Given the description of an element on the screen output the (x, y) to click on. 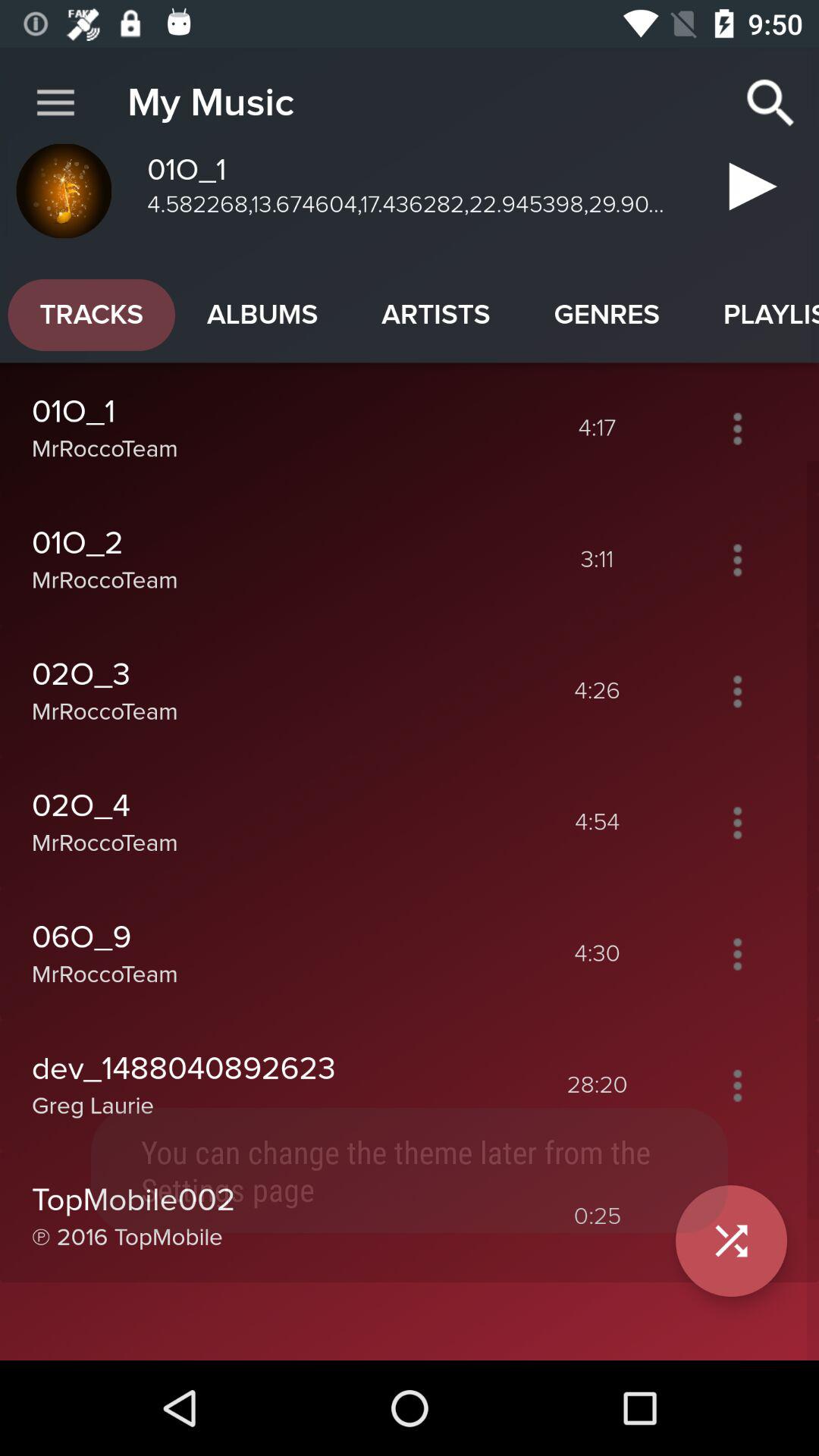
go to song menu (737, 1085)
